Given the description of an element on the screen output the (x, y) to click on. 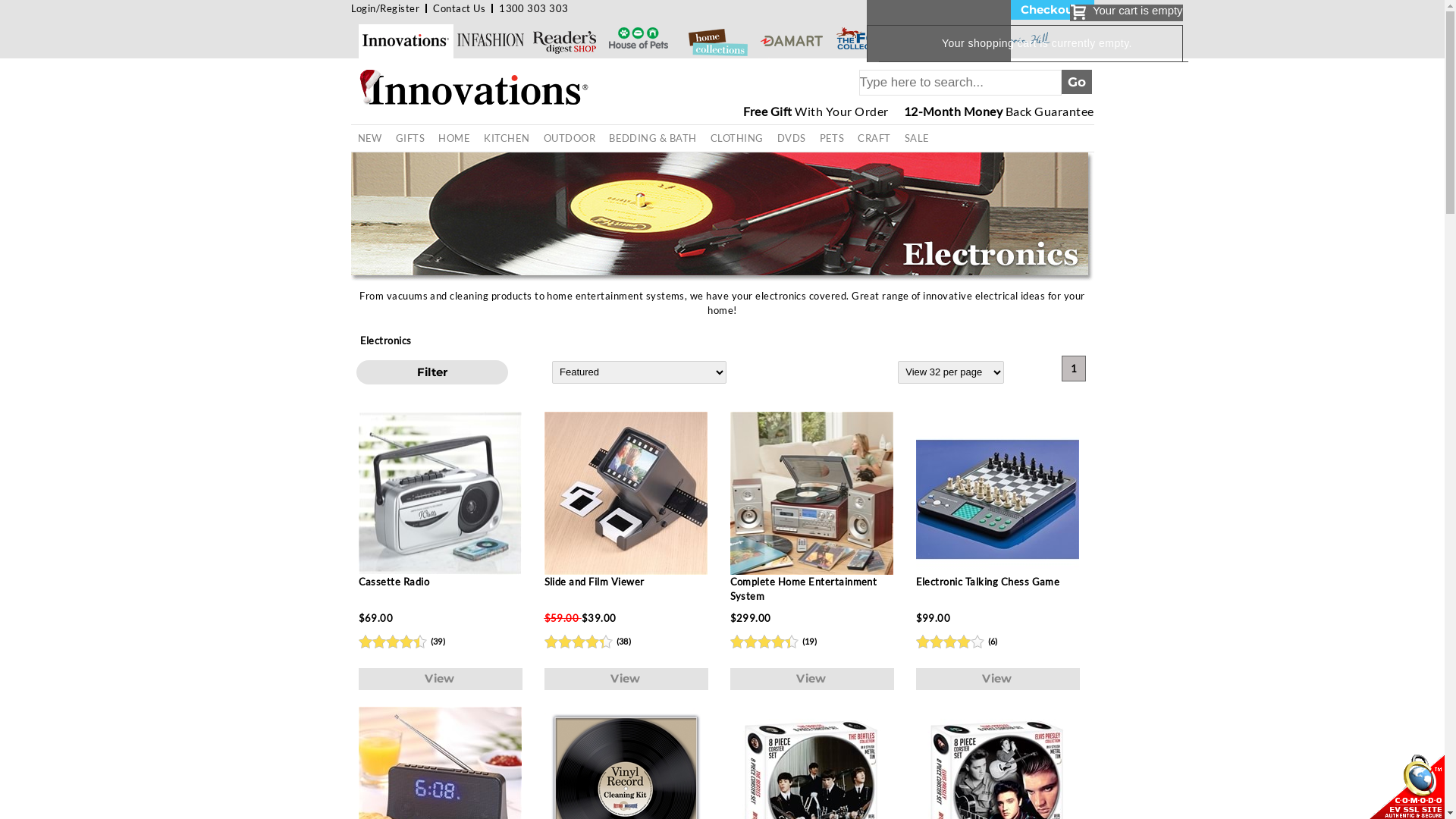
Checkout > Element type: text (1051, 9)
1 Element type: text (1073, 368)
OUTDOOR Element type: text (569, 138)
View Element type: text (997, 678)
Electronic Talking Chess Game Element type: text (997, 508)
Contact Us Element type: text (459, 8)
Cassette Radio Element type: text (438, 508)
View Element type: text (625, 678)
Login/Register Element type: text (384, 8)
GIFTS Element type: text (410, 138)
Complete Home Entertainment System Element type: text (810, 508)
KITCHEN Element type: text (506, 138)
View Element type: text (438, 678)
PETS Element type: text (831, 138)
SALE Element type: text (916, 138)
Go Element type: text (1076, 81)
Your cart is empty Element type: text (1126, 12)
Slide and Film Viewer Element type: text (625, 508)
BEDDING & BATH Element type: text (652, 138)
CLOTHING Element type: text (736, 138)
NEW Element type: text (369, 138)
DVDS Element type: text (791, 138)
CRAFT Element type: text (873, 138)
View Element type: text (810, 678)
HOME Element type: text (453, 138)
